Given the description of an element on the screen output the (x, y) to click on. 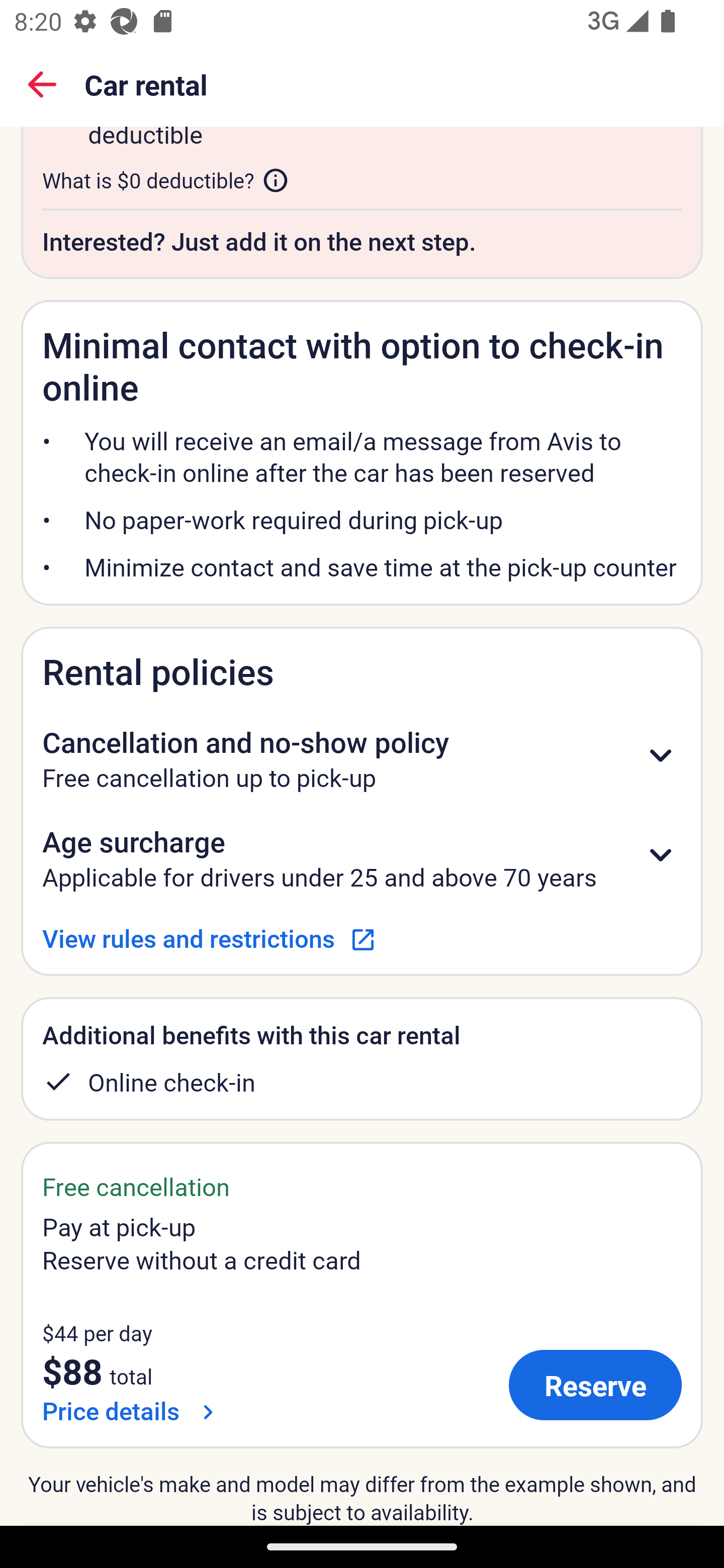
Go back to car rental search results (42, 84)
What is $0 deductible? (165, 179)
Reserve (595, 1384)
Price details Price details Link (131, 1410)
